Given the description of an element on the screen output the (x, y) to click on. 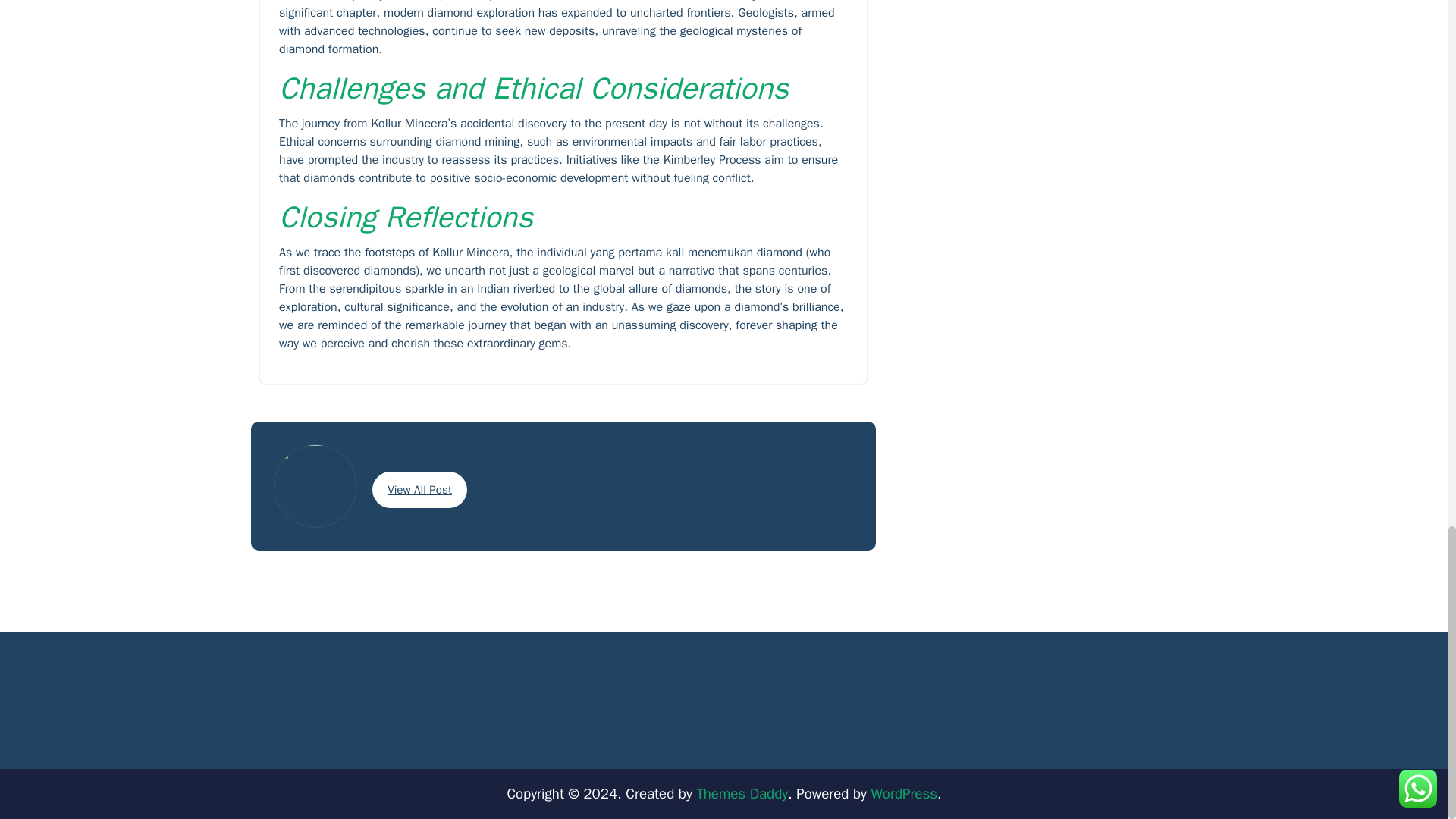
WordPress (903, 793)
View All Post (419, 489)
Themes Daddy (741, 793)
